Given the description of an element on the screen output the (x, y) to click on. 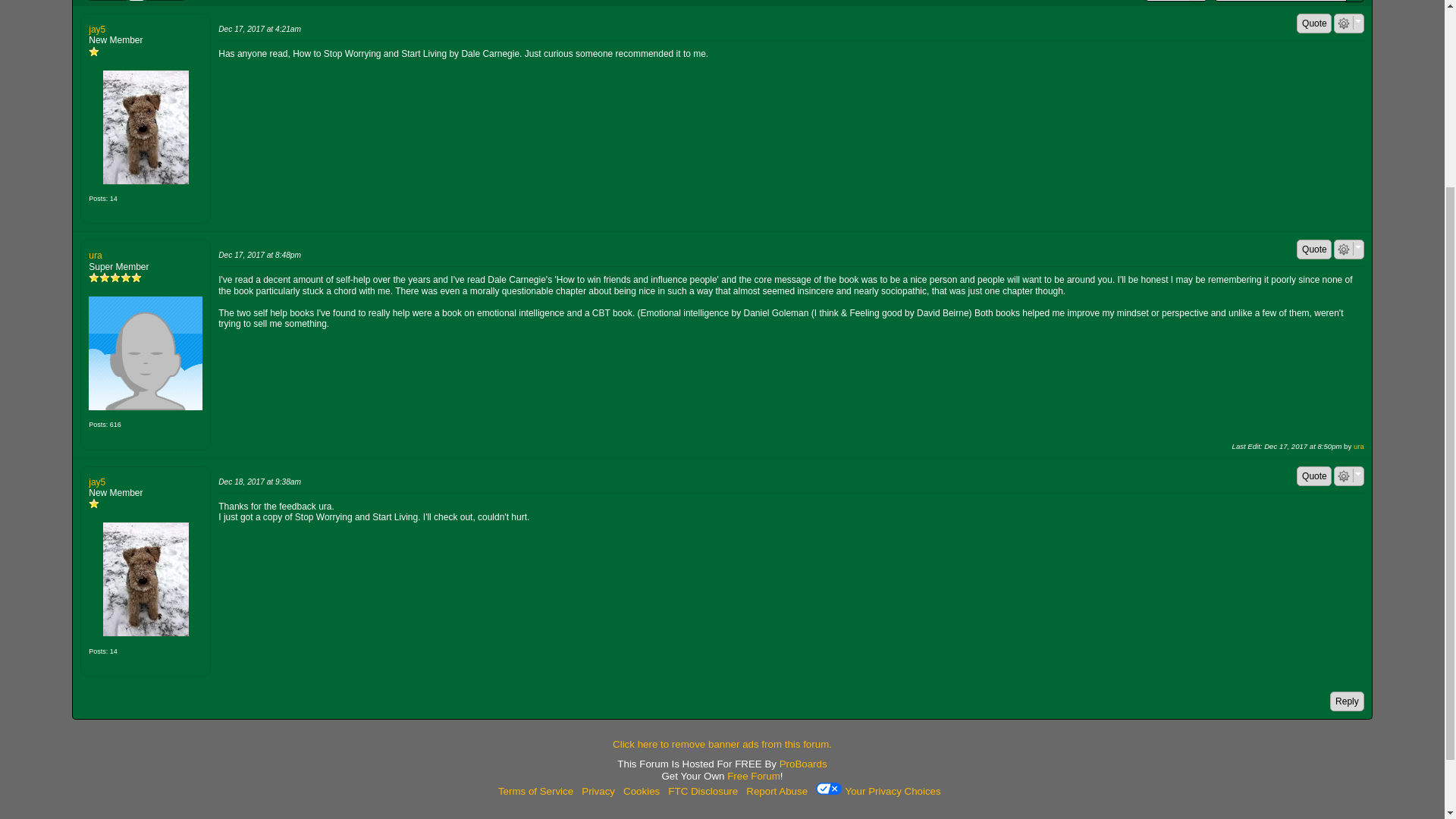
jay5 (145, 127)
jay5 (145, 579)
ura (145, 353)
Post Options (1343, 23)
Post Options (1343, 249)
